Given the description of an element on the screen output the (x, y) to click on. 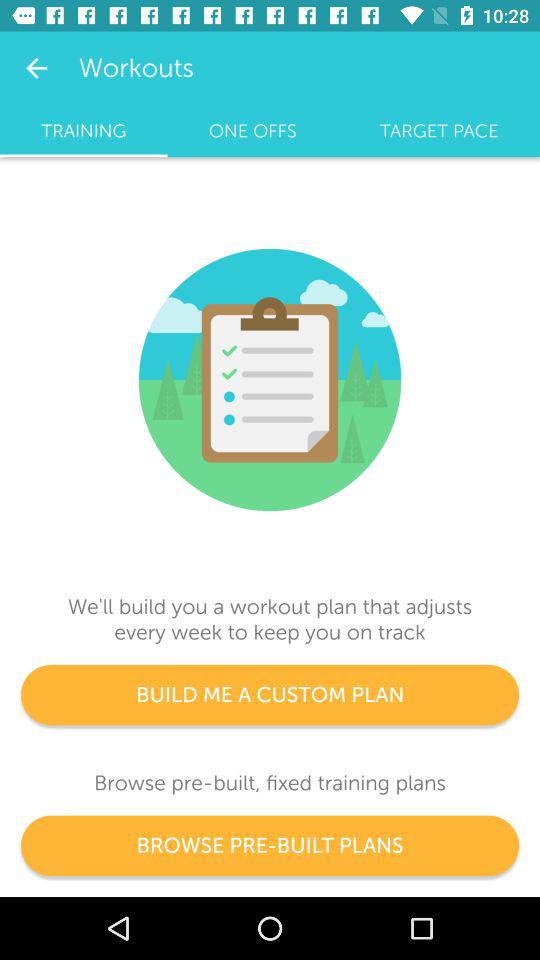
turn off the app next to the workouts icon (36, 68)
